Given the description of an element on the screen output the (x, y) to click on. 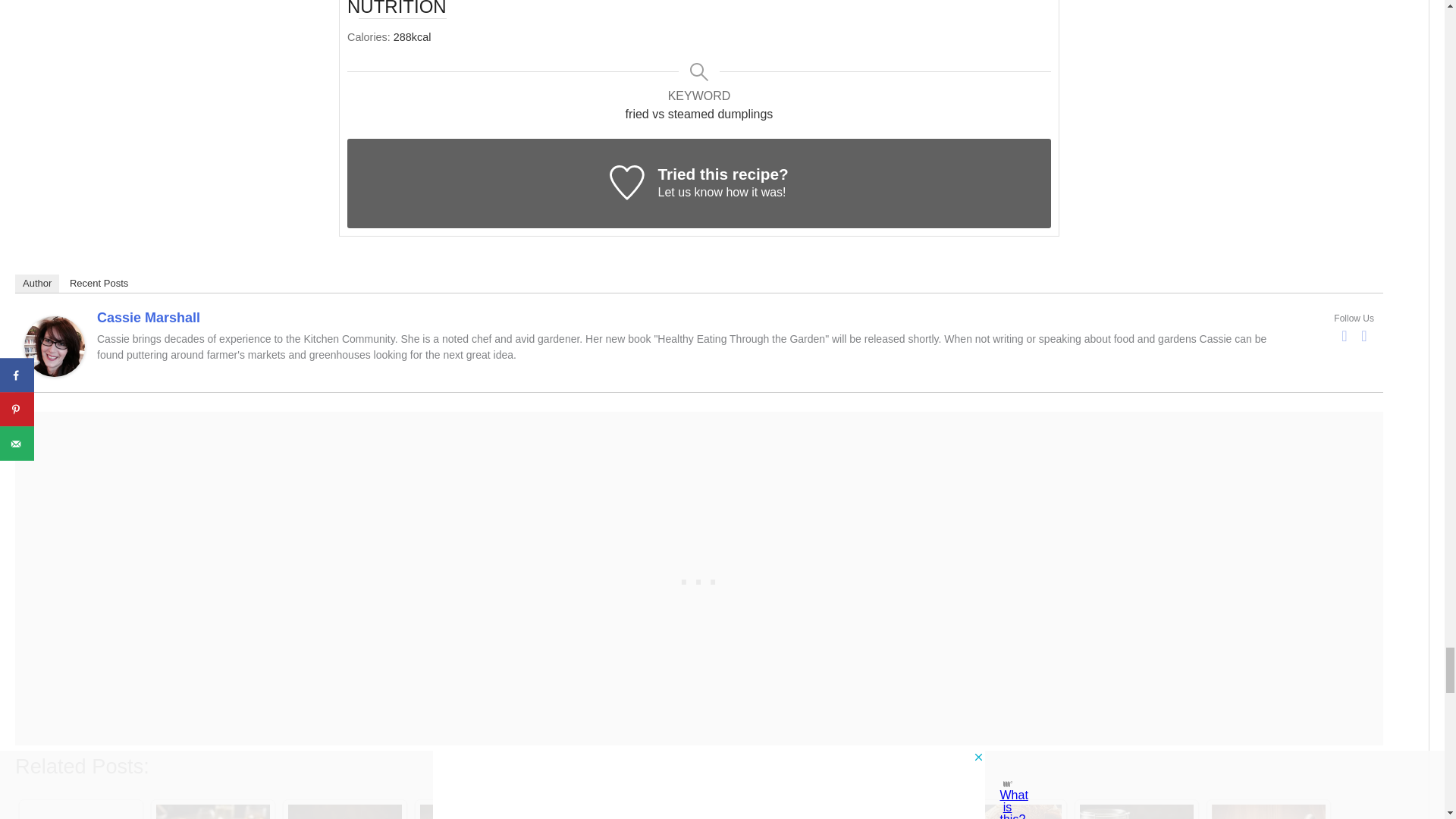
Habanero vs Jalapeno: A Spicy Showdown Explained (608, 811)
Cassie Marshall (54, 345)
Papad: Perfect Pair for Chutneys and Pickles (212, 811)
How to Use Sultanas in Cooking (477, 811)
White Sugar vs Brown Sugar (344, 811)
Twitter (1364, 335)
Anise vs Licorice: (81, 811)
Facebook (1344, 335)
